Given the description of an element on the screen output the (x, y) to click on. 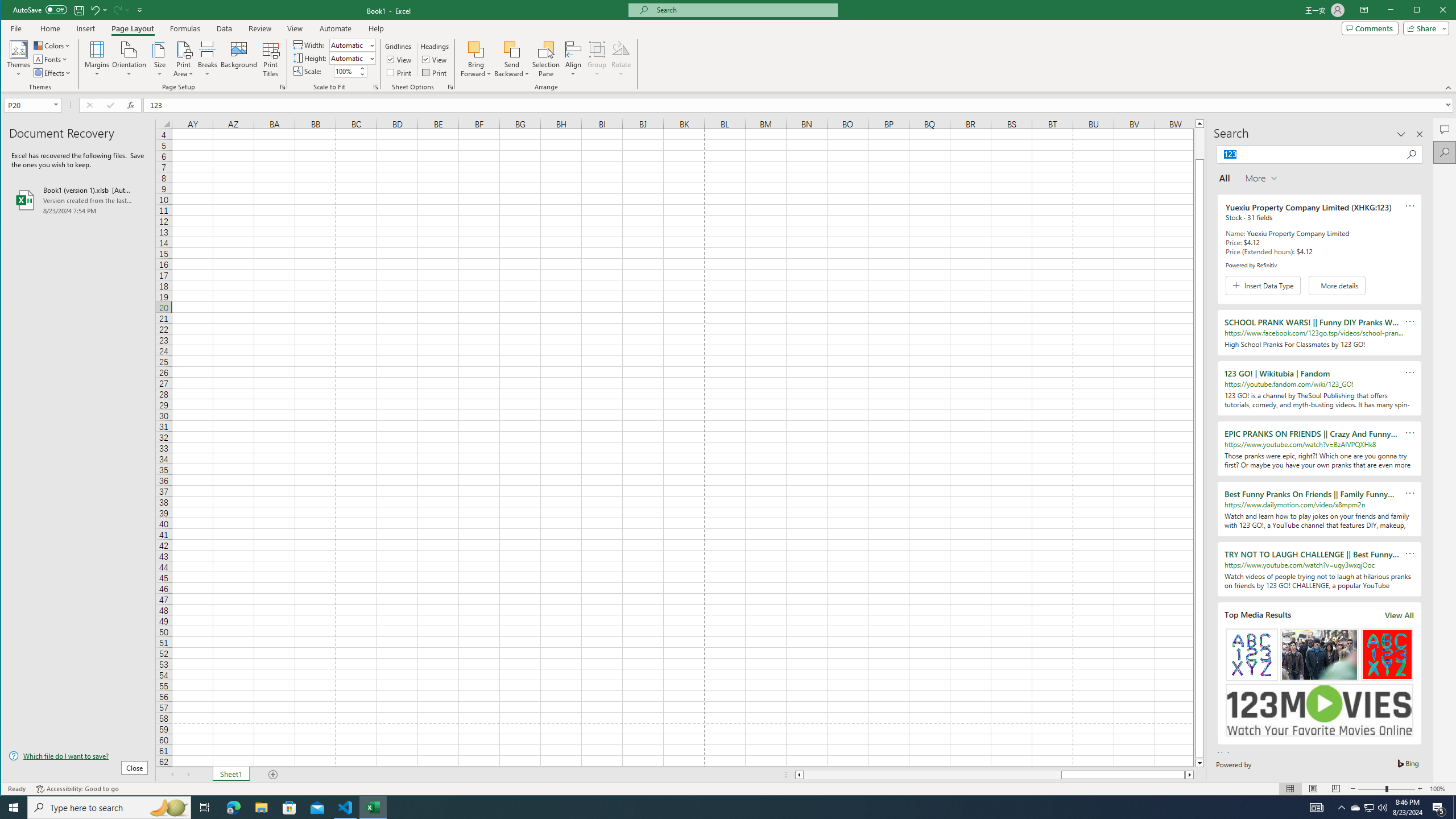
Width (349, 45)
Bring Forward (476, 48)
Type here to search (108, 807)
Less (361, 73)
Page up (1199, 142)
Print Titles (270, 59)
AutomationID: 4105 (1316, 807)
